Given the description of an element on the screen output the (x, y) to click on. 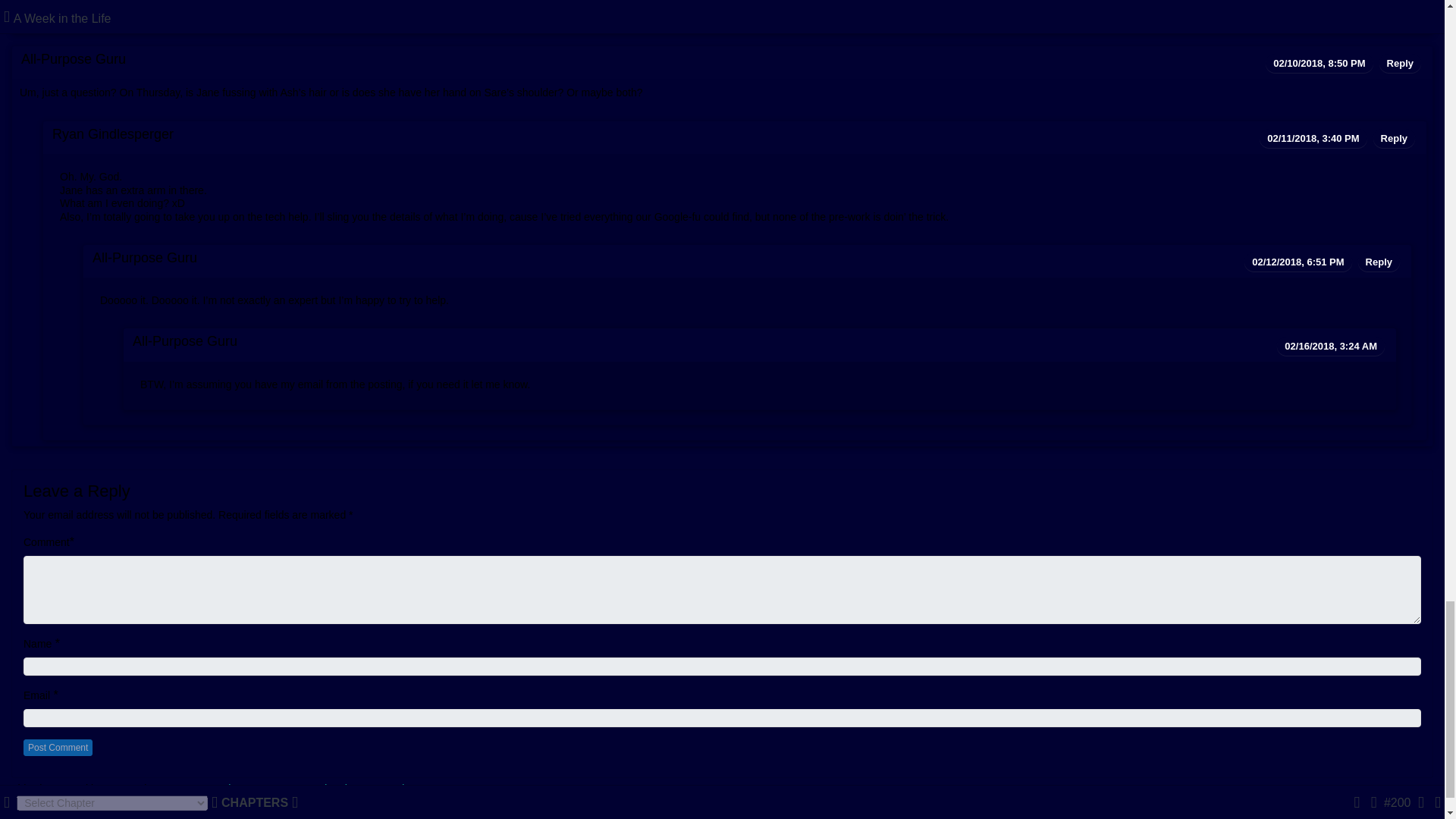
Post Comment (58, 747)
